Given the description of an element on the screen output the (x, y) to click on. 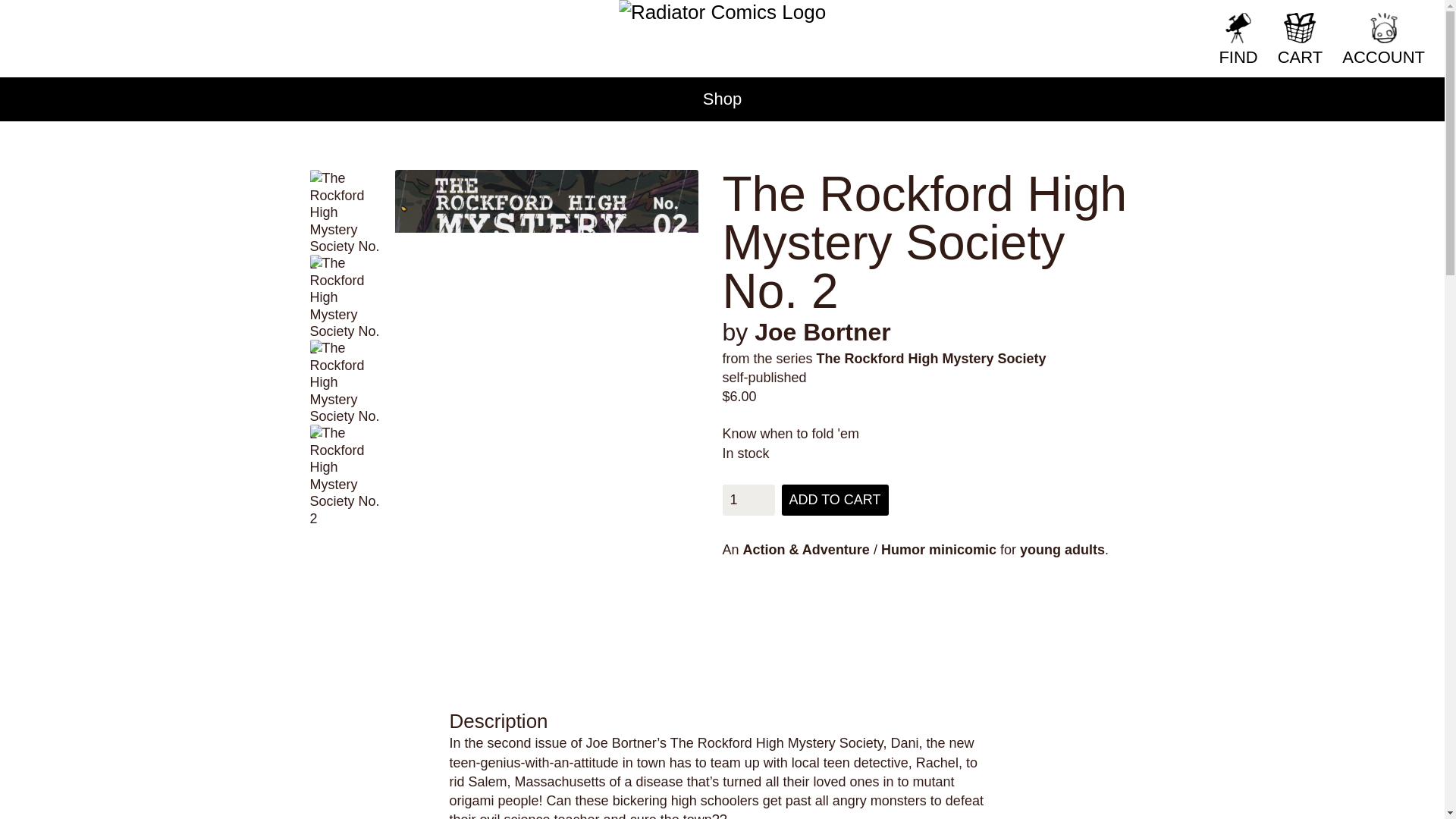
FIND (1237, 39)
CART (1300, 39)
The Rockford High Mystery Society No. 2 (344, 290)
The Rockford High Mystery Society (931, 358)
ADD TO CART (834, 500)
RESET FORM (1137, 21)
1 (748, 499)
The Rockford High Mystery Society No. 2 (344, 375)
Find Comics (1289, 21)
Joe Bortner (822, 331)
ACCOUNT (1383, 39)
Find Comics (1289, 21)
The Rockford High Mystery Society No. 2 (344, 461)
The Rockford High Mystery Society No. 2 (344, 205)
